Given the description of an element on the screen output the (x, y) to click on. 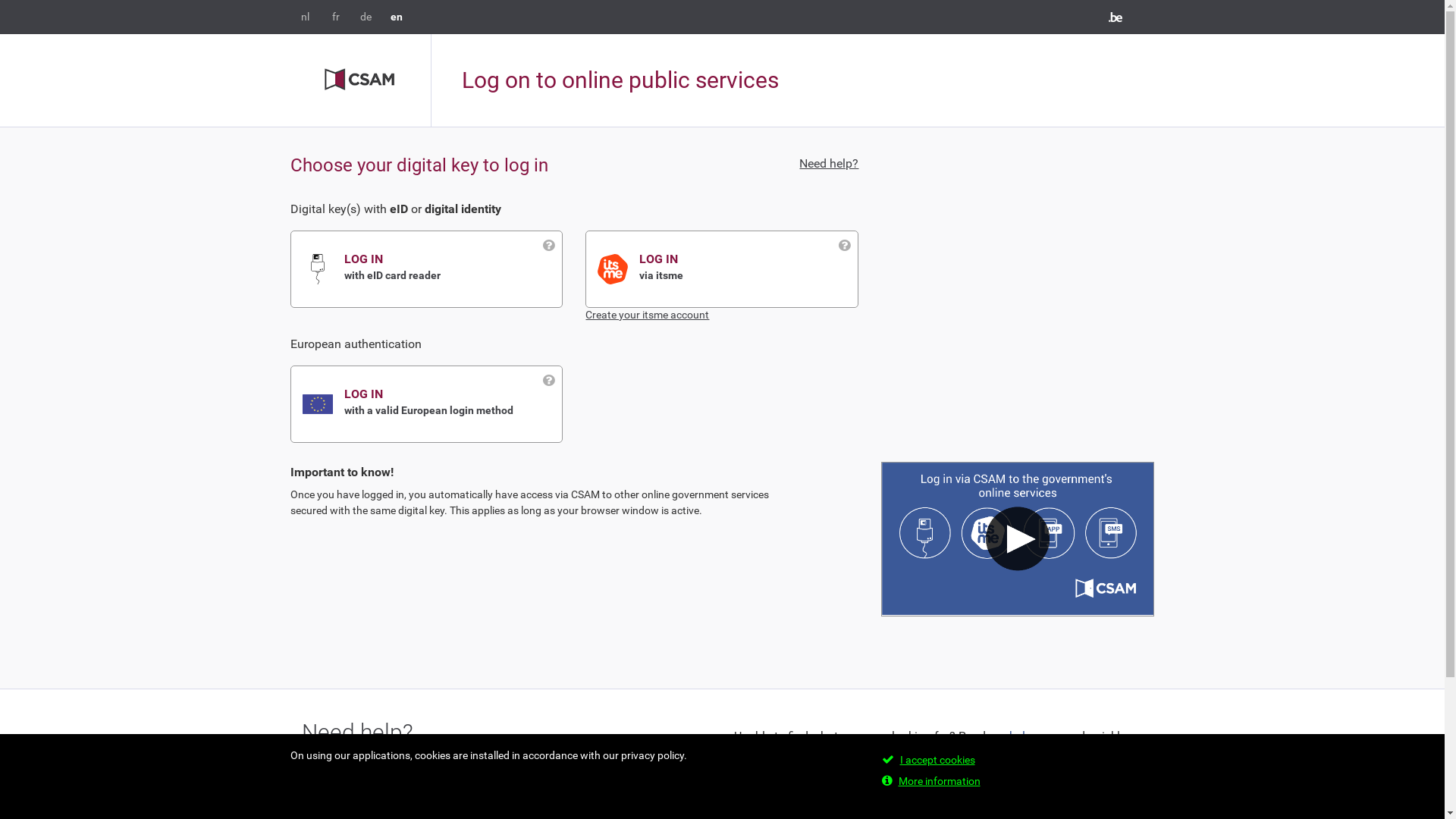
en Element type: text (395, 17)
More information Element type: text (938, 781)
Need help? Element type: text (828, 163)
I accept cookies Element type: text (936, 759)
fr Element type: text (335, 17)
LOG IN
with a valid European login method Element type: text (453, 402)
Create your itsme account Element type: text (647, 314)
nl Element type: text (305, 17)
How safe are the different digital keys? Element type: text (404, 766)
de Element type: text (365, 17)
help page Element type: text (1034, 735)
LOG IN
via itsme Element type: text (748, 267)
LOG IN
with eID card reader Element type: text (453, 267)
